Given the description of an element on the screen output the (x, y) to click on. 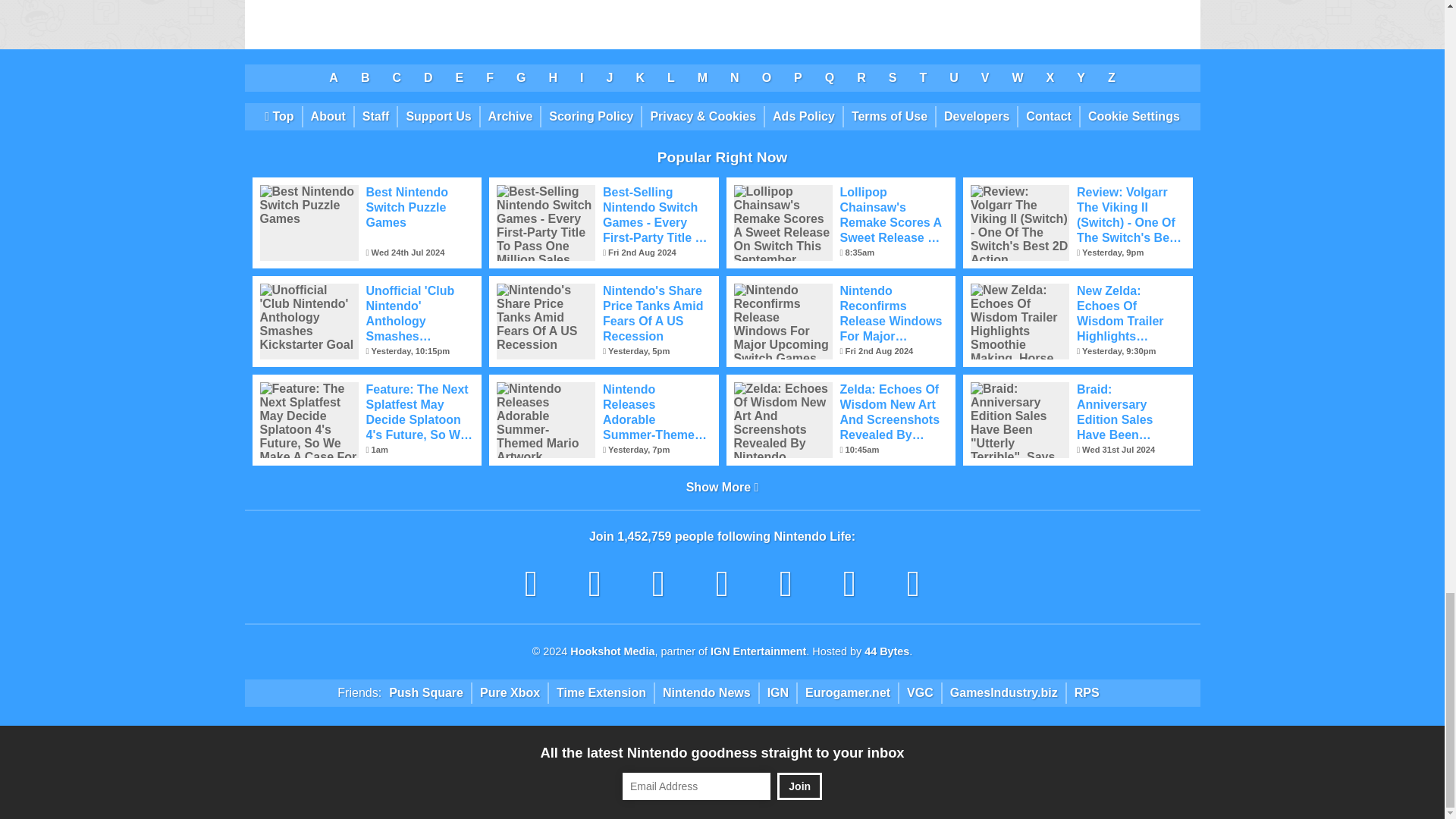
Join (799, 786)
